Given the description of an element on the screen output the (x, y) to click on. 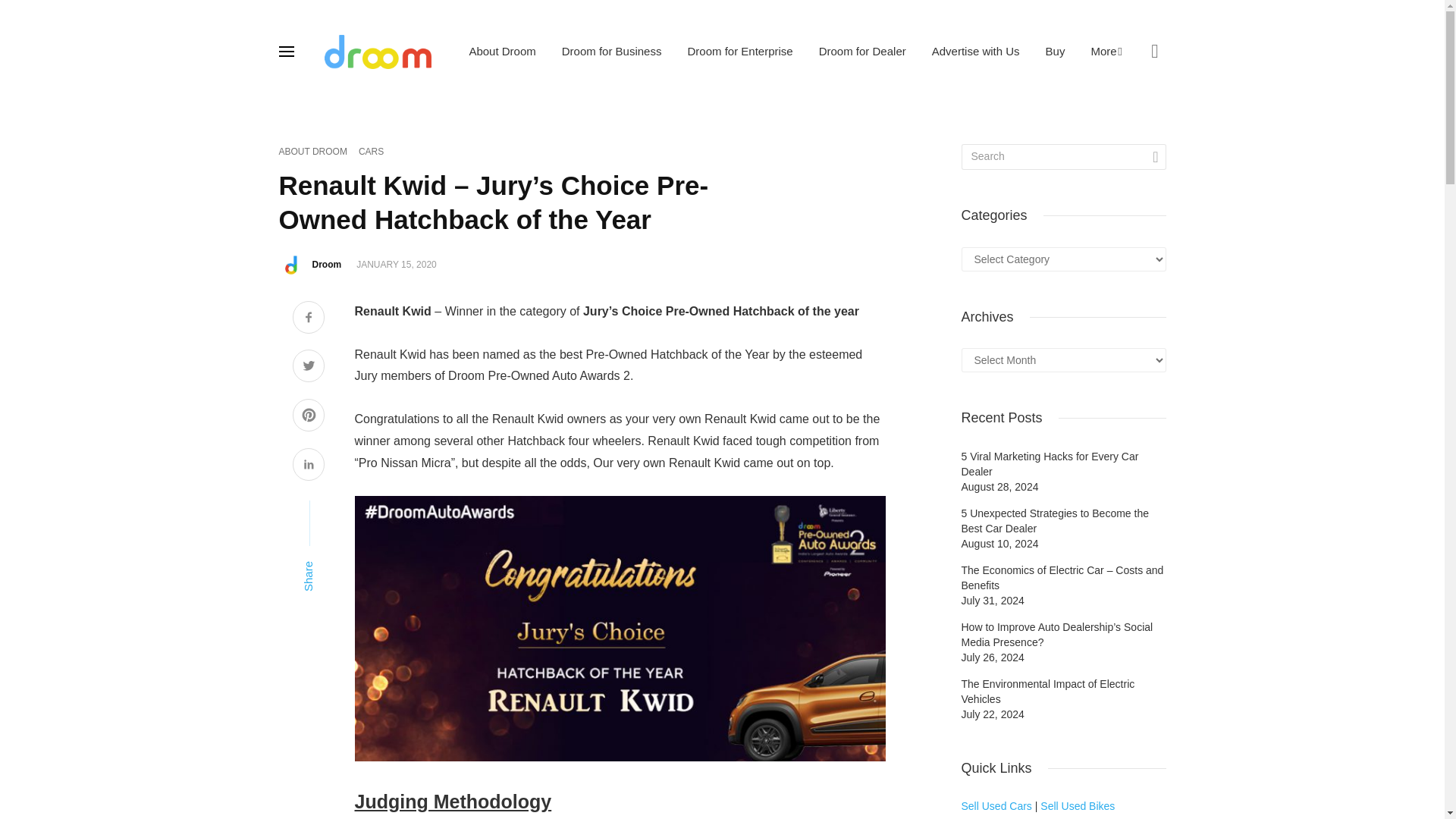
January 15, 2020 at 3:38 pm (396, 264)
Share on Twitter (308, 367)
Droom (327, 264)
Share on Pinterest (308, 416)
Advertise with Us (975, 51)
Share on Facebook (308, 319)
Sell Bike for Free (1078, 806)
Droom for Dealer (862, 51)
CARS (371, 151)
Droom for Enterprise (739, 51)
